Given the description of an element on the screen output the (x, y) to click on. 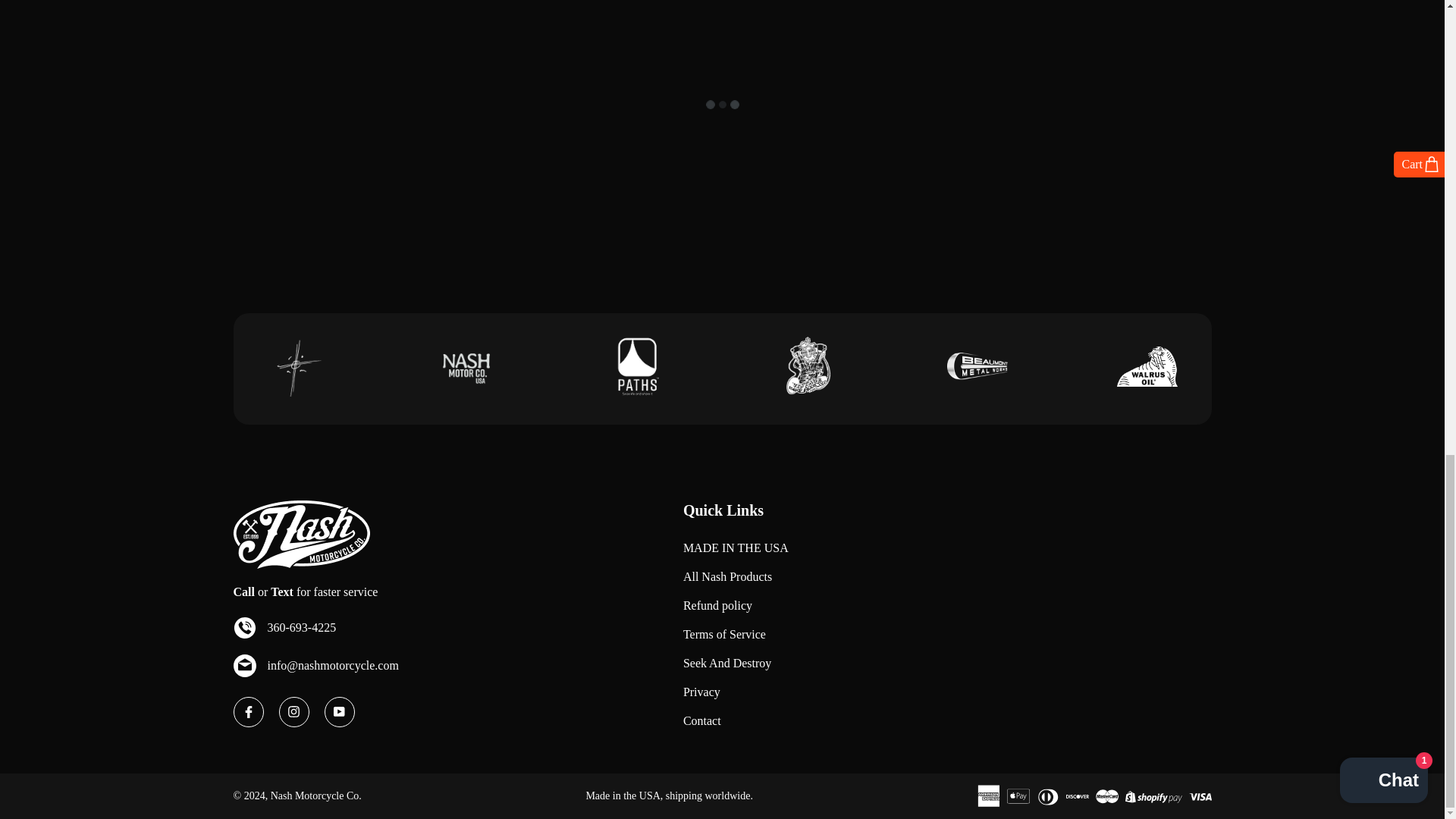
Nash Motorcycle Co. on Facebook (247, 711)
Nash Motorcycle Co. on YouTube (339, 711)
Nash Motorcycle Co. on Instagram (293, 711)
